Given the description of an element on the screen output the (x, y) to click on. 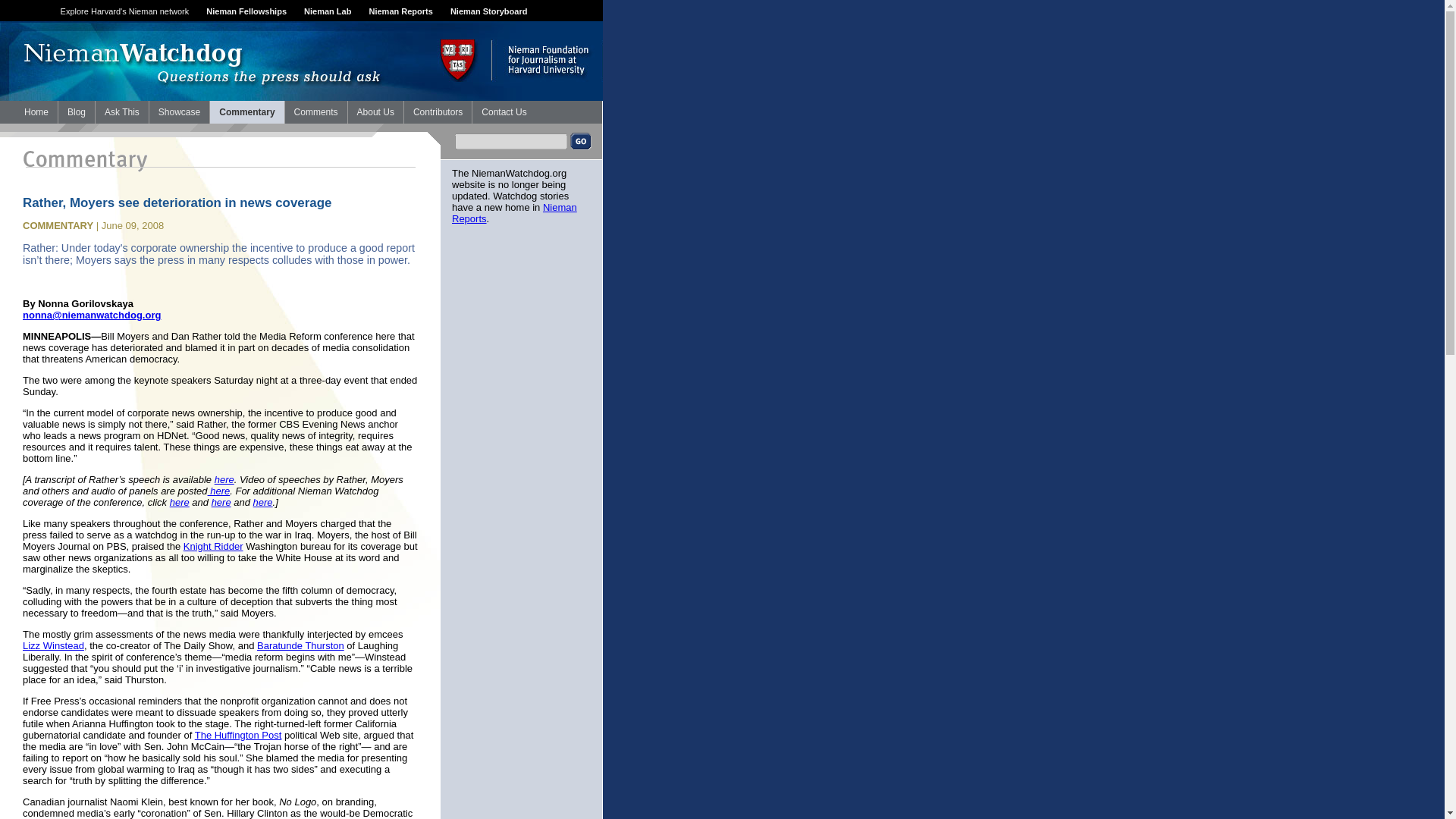
Contact Us (503, 112)
Knight Ridder (213, 546)
here (224, 479)
Nieman Fellowships (246, 10)
Showcase (179, 112)
Commentary (246, 112)
here (179, 501)
Comments (316, 112)
Nieman Reports (513, 212)
Nieman Storyboard (488, 10)
Contributors (437, 112)
here (219, 490)
here (263, 501)
About Us (375, 112)
Nieman Reports (400, 10)
